Given the description of an element on the screen output the (x, y) to click on. 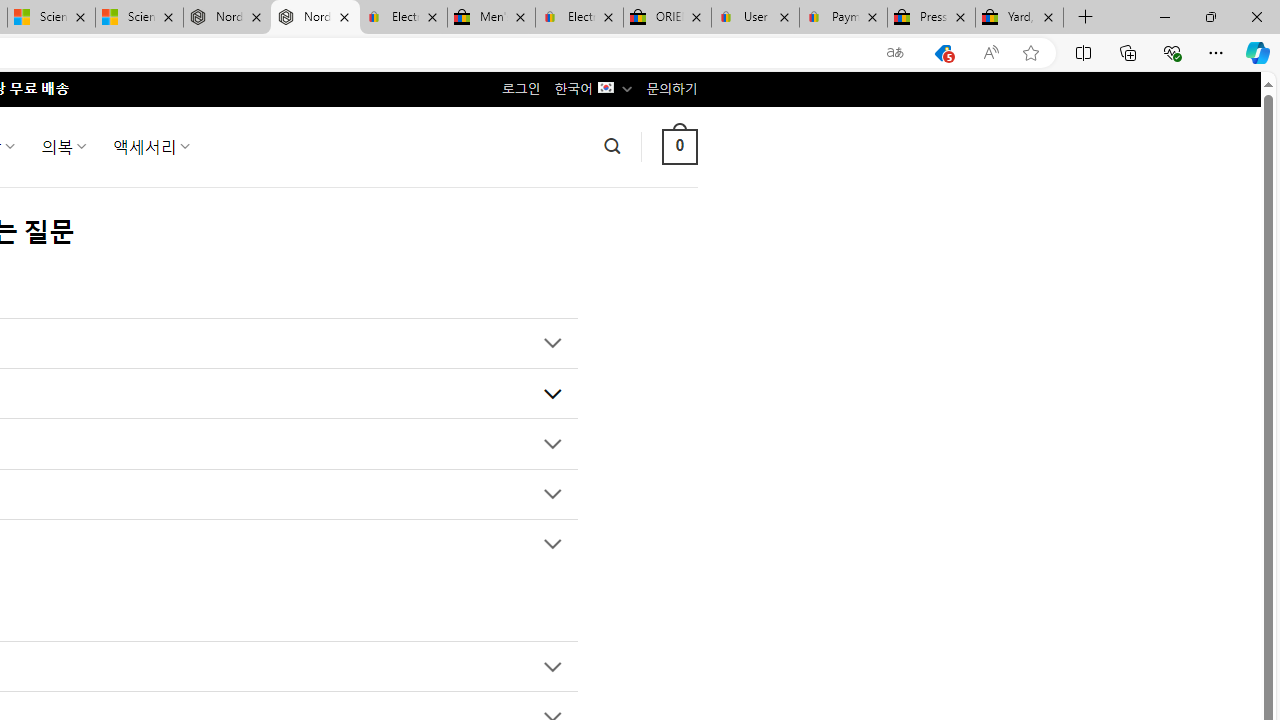
User Privacy Notice | eBay (754, 17)
Press Room - eBay Inc. (931, 17)
